Given the description of an element on the screen output the (x, y) to click on. 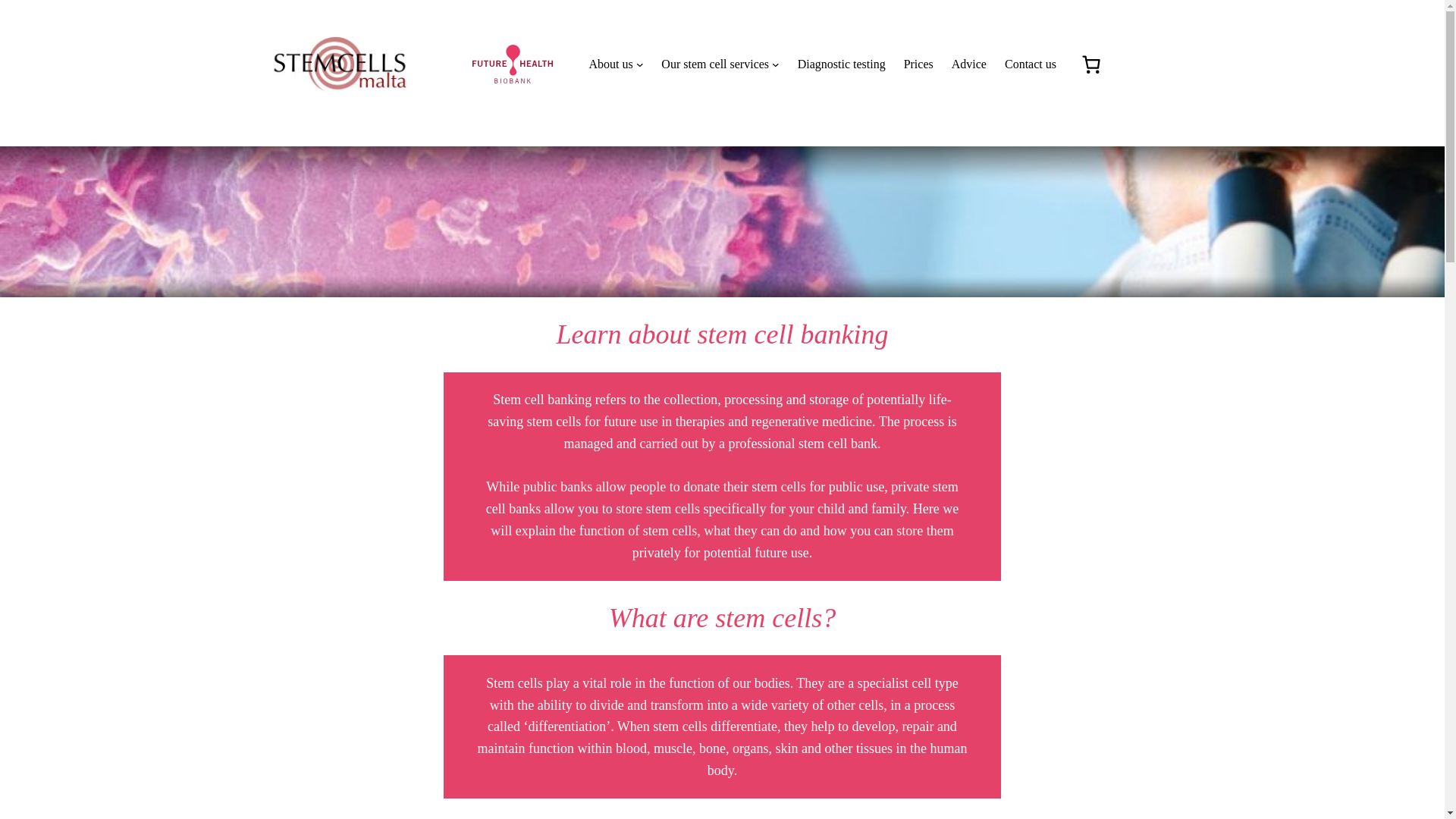
Advice (969, 64)
Prices (918, 64)
Contact us (1030, 64)
Diagnostic testing (841, 64)
About us (609, 64)
Our stem cell services (714, 64)
